Given the description of an element on the screen output the (x, y) to click on. 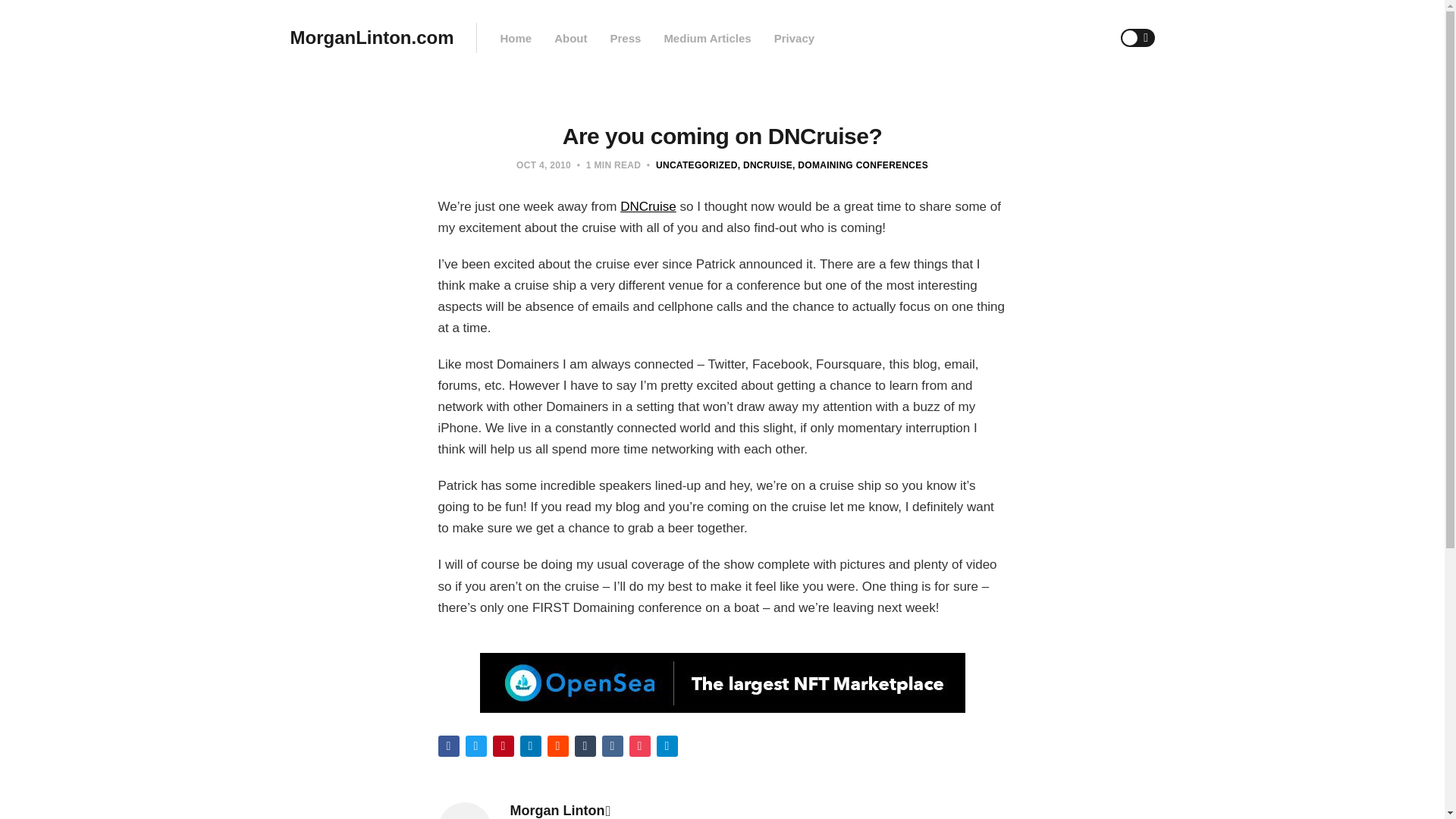
Uncategorized (697, 164)
Privacy (793, 38)
Press (625, 38)
Domaining Conferences (860, 164)
Medium Articles (707, 38)
About (570, 38)
dncruise (765, 164)
MorganLinton.com (370, 37)
UNCATEGORIZED (697, 164)
DOMAINING CONFERENCES (860, 164)
DNCRUISE (765, 164)
Home (515, 38)
DNCruise (648, 206)
